Given the description of an element on the screen output the (x, y) to click on. 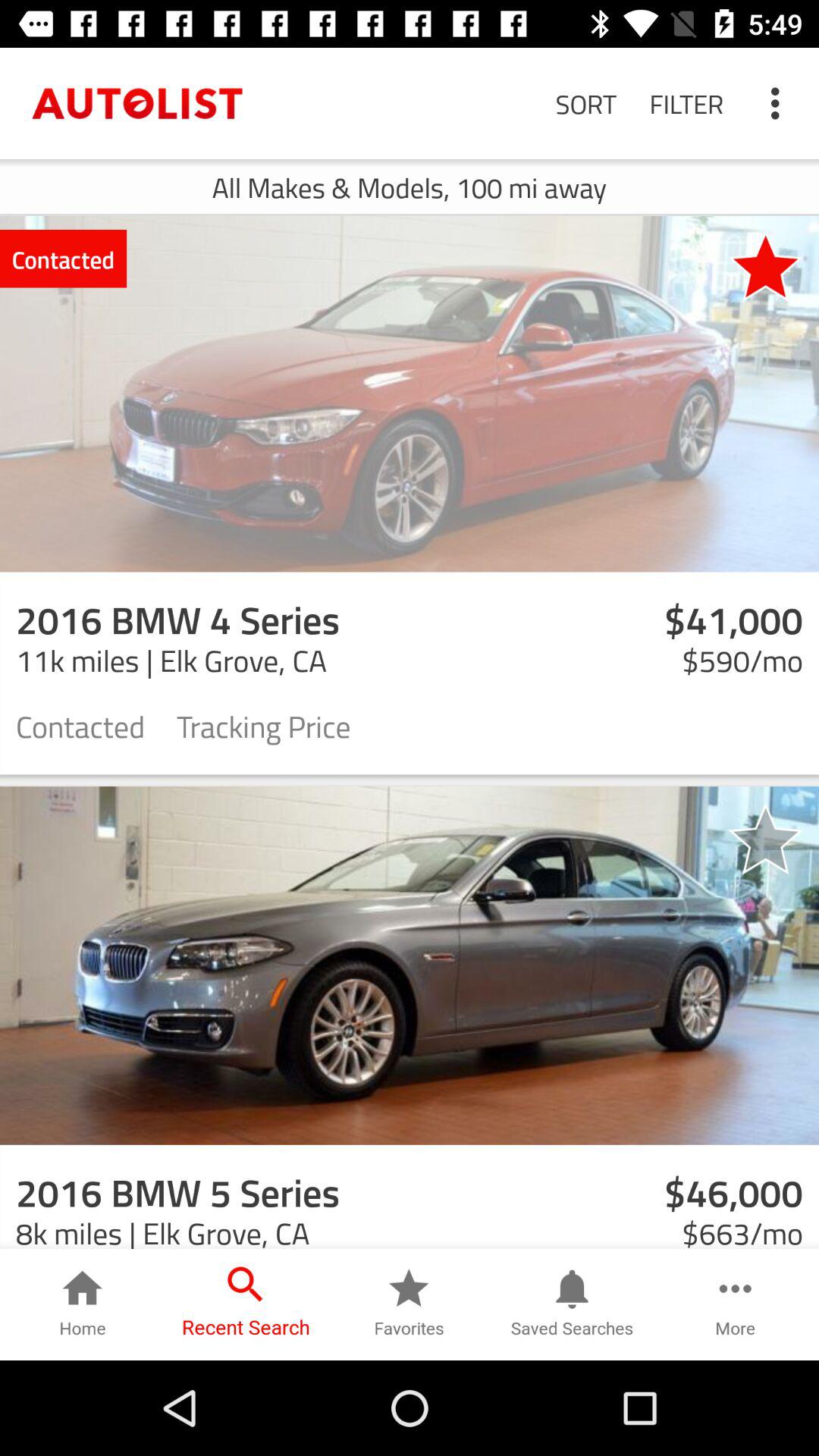
choose the icon next to filter icon (779, 103)
